Given the description of an element on the screen output the (x, y) to click on. 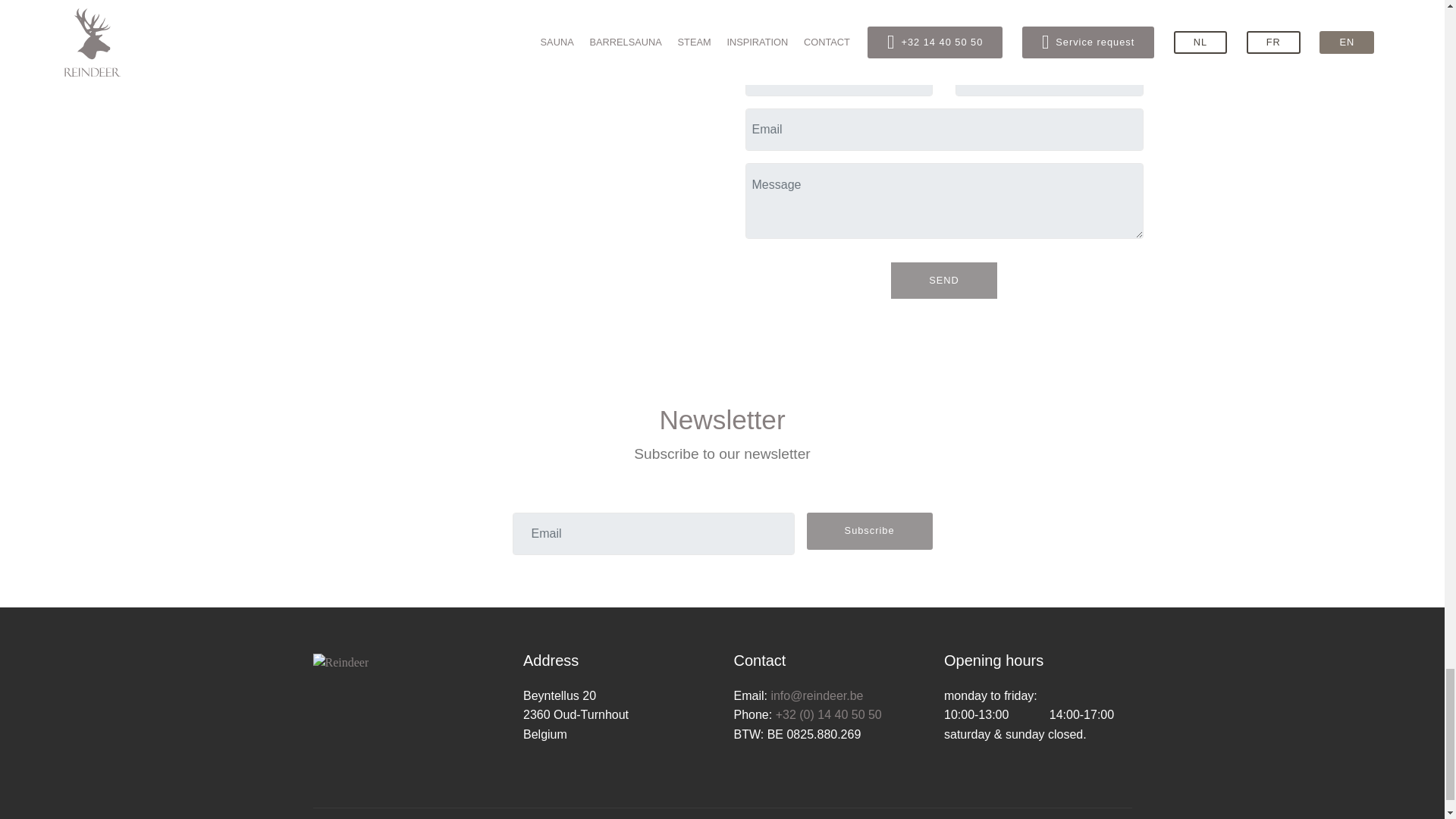
Subscribe (869, 530)
Reindeer logo (340, 662)
SEND (944, 280)
